Given the description of an element on the screen output the (x, y) to click on. 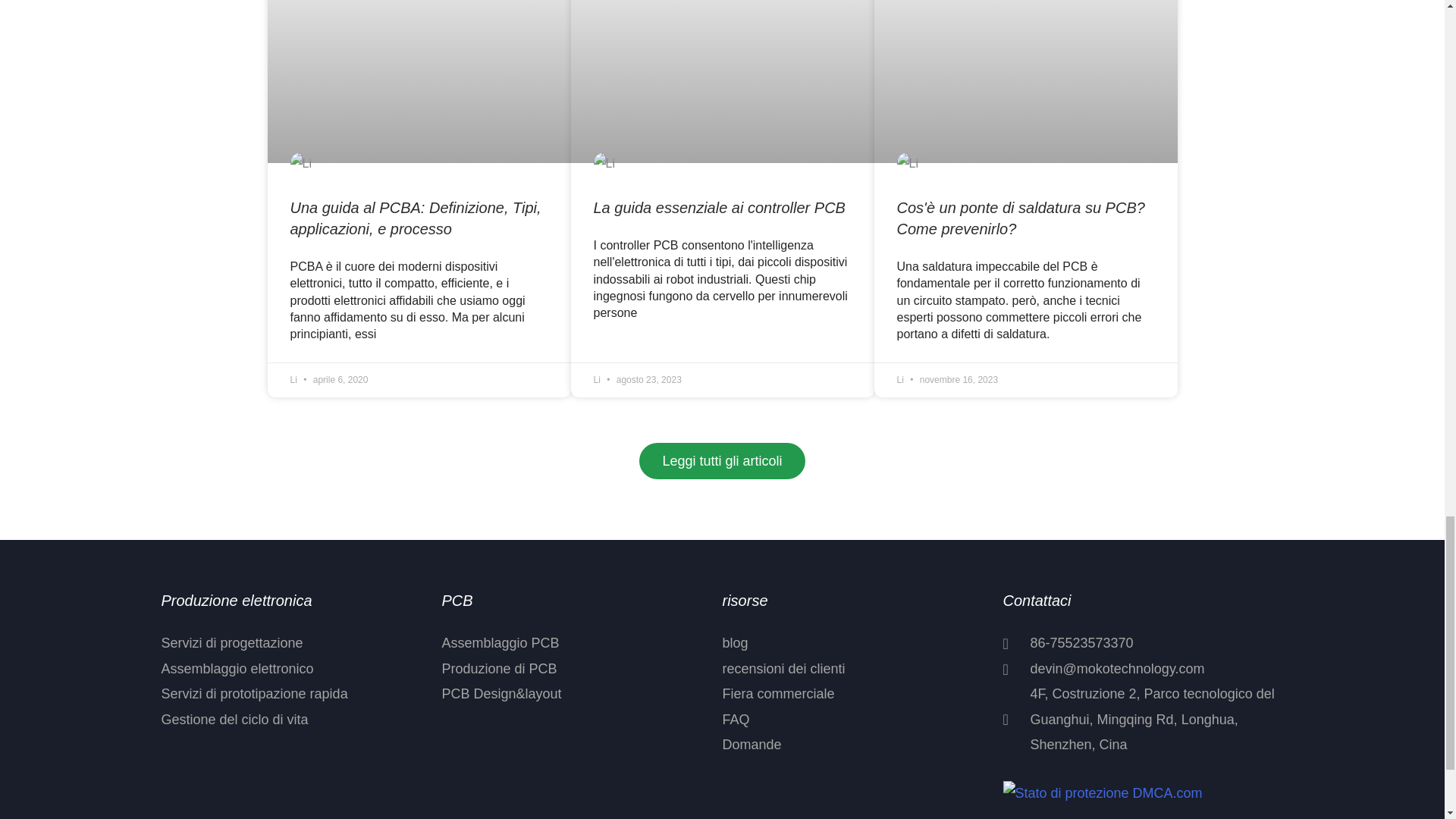
Stato di protezione DMCA.com (1102, 792)
